Given the description of an element on the screen output the (x, y) to click on. 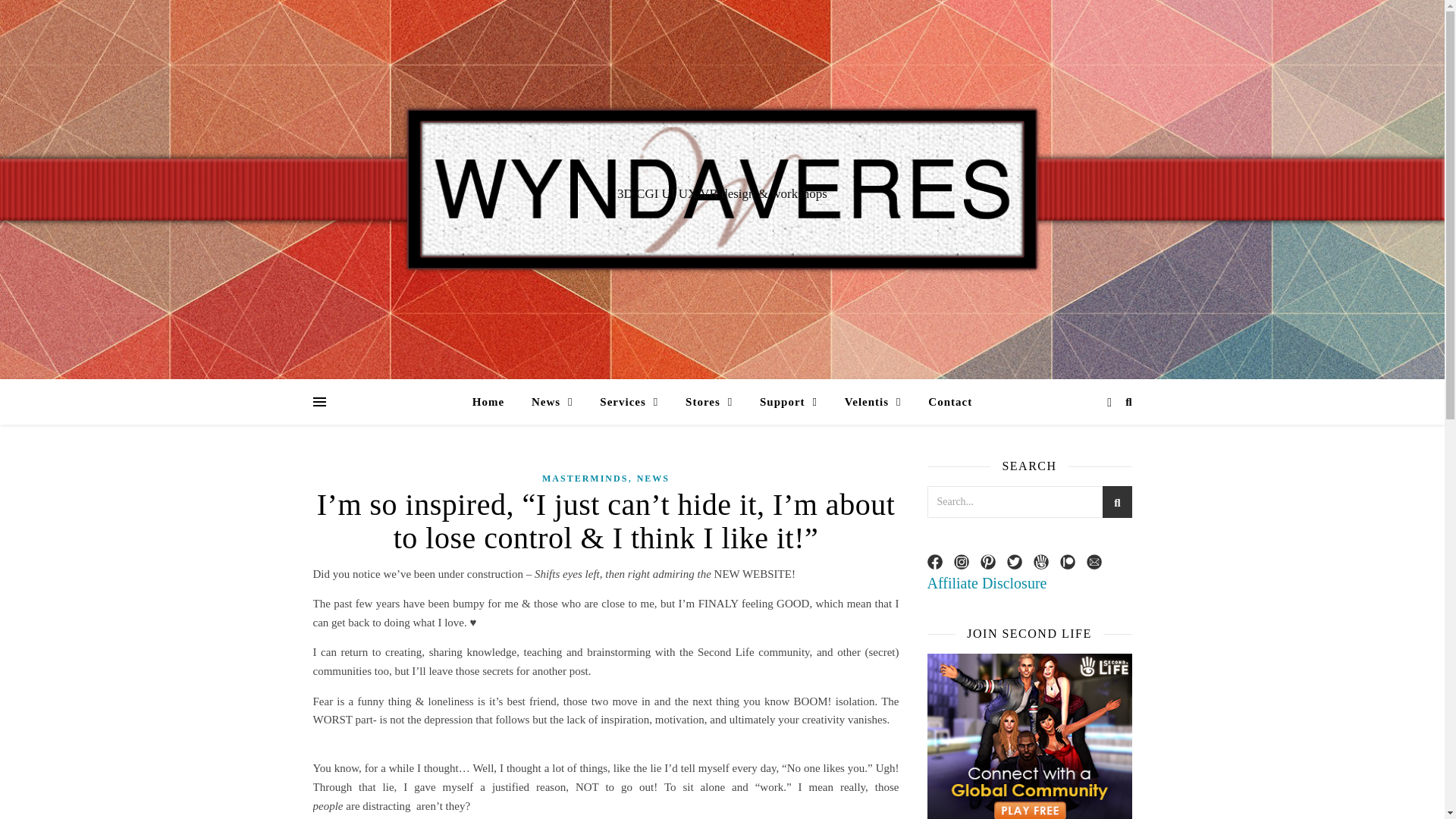
News (552, 402)
Stores (708, 402)
Support (788, 402)
Velentis (873, 402)
Contact (943, 402)
Services (628, 402)
Home (493, 402)
